Given the description of an element on the screen output the (x, y) to click on. 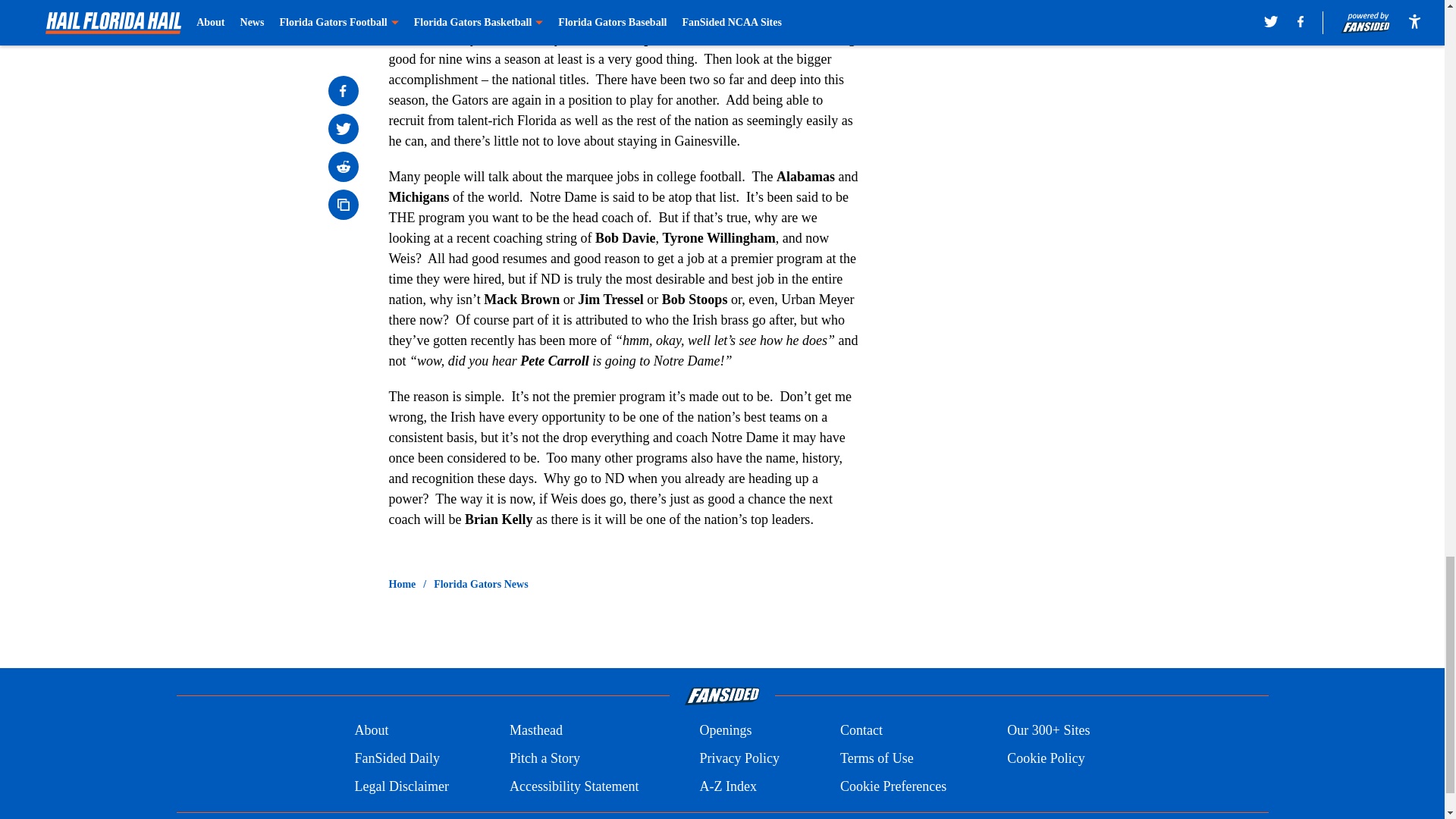
FanSided Daily (396, 757)
Home (401, 583)
Masthead (535, 730)
Privacy Policy (738, 757)
Accessibility Statement (574, 786)
Cookie Policy (1045, 757)
Cookie Preferences (893, 786)
A-Z Index (726, 786)
Terms of Use (877, 757)
About (370, 730)
Pitch a Story (544, 757)
Florida Gators News (480, 583)
Contact (861, 730)
Openings (724, 730)
Legal Disclaimer (400, 786)
